Given the description of an element on the screen output the (x, y) to click on. 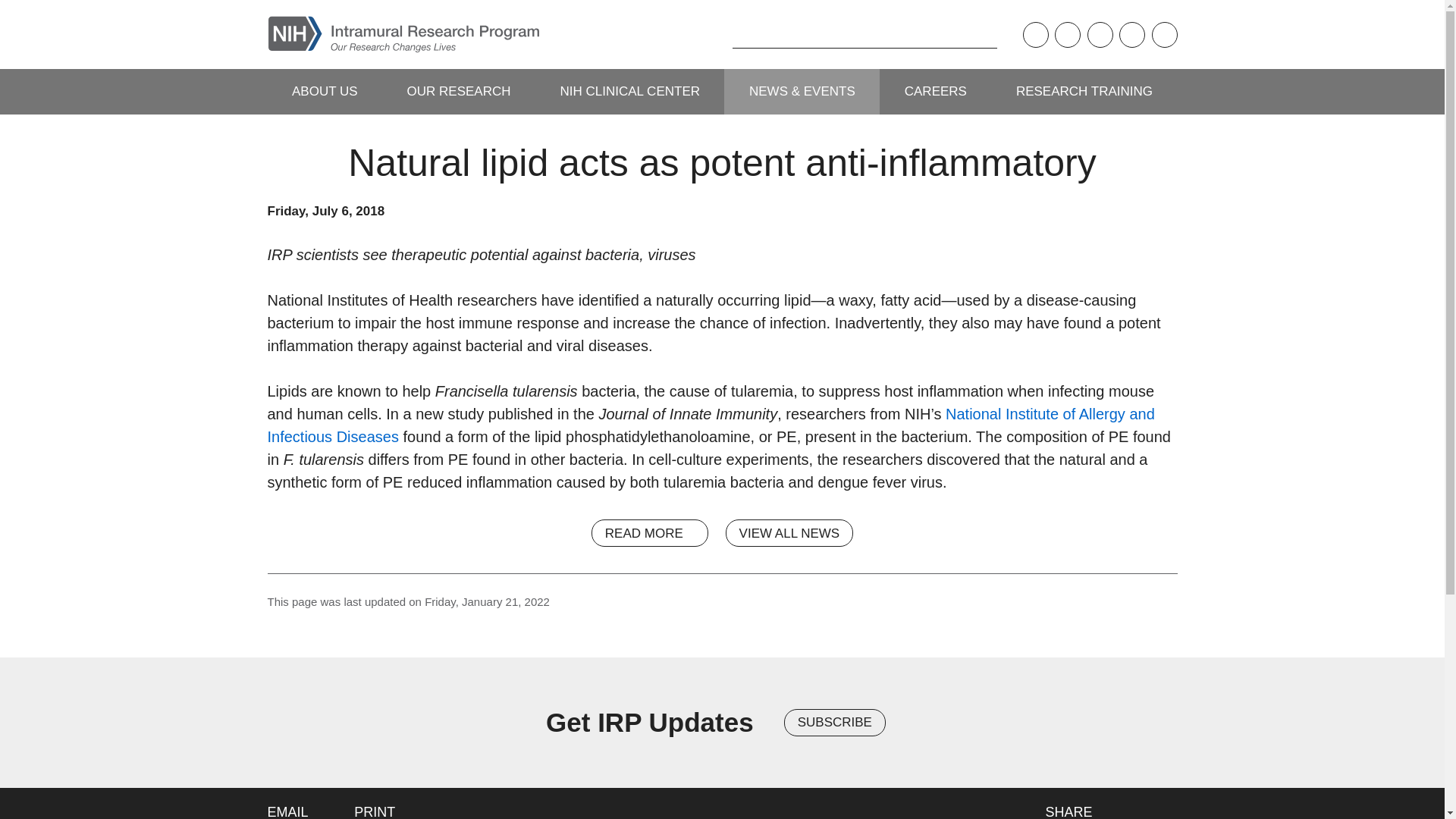
ABOUT US (323, 91)
SEARCH (707, 34)
Podcast (1035, 34)
Skip to main content (11, 11)
